Given the description of an element on the screen output the (x, y) to click on. 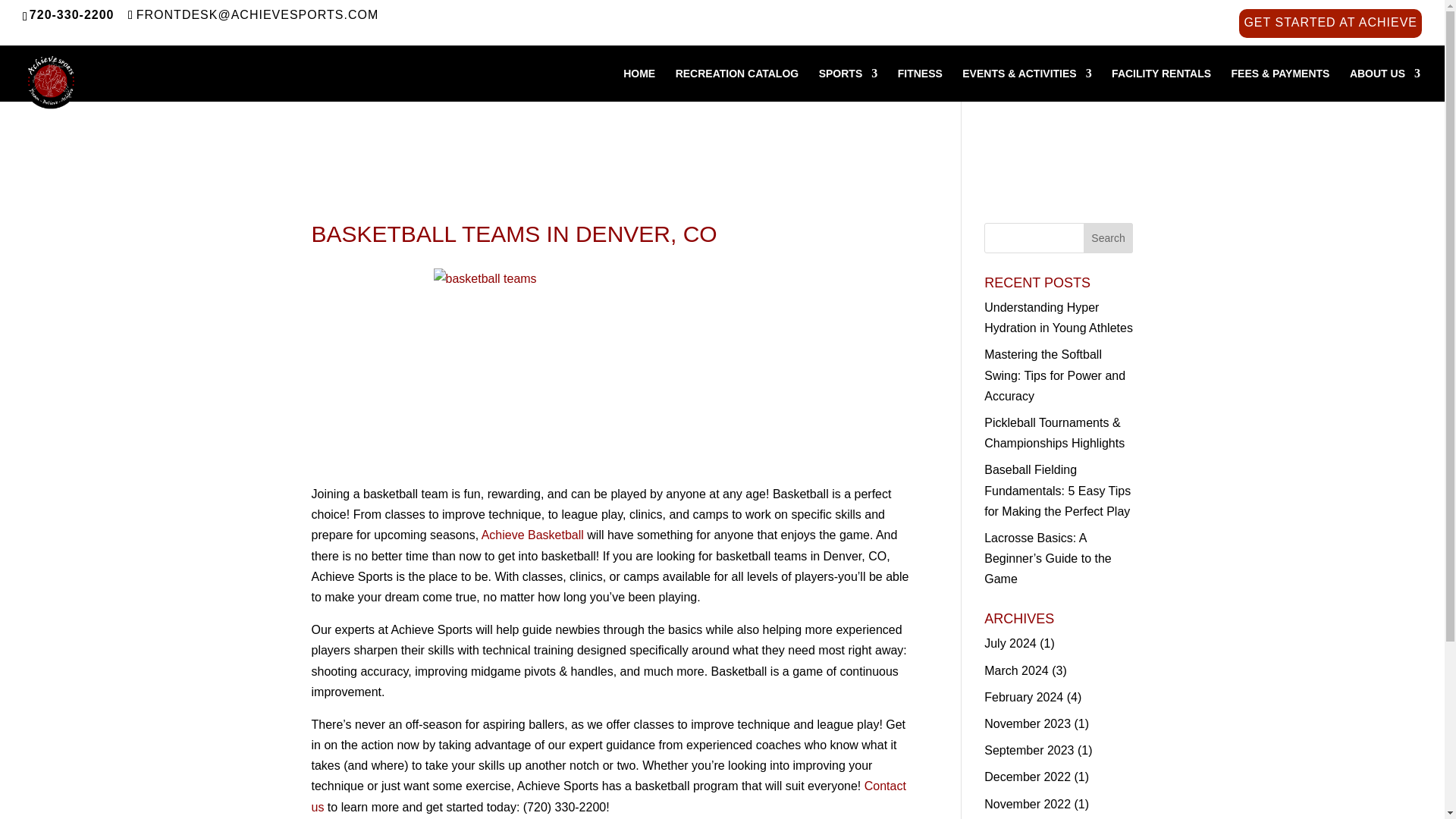
FITNESS (920, 84)
SPORTS (847, 84)
GET STARTED AT ACHIEVE (1329, 26)
RECREATION CATALOG (737, 84)
ABOUT US (1385, 84)
HOME (639, 84)
FACILITY RENTALS (1161, 84)
Search (1108, 237)
